Given the description of an element on the screen output the (x, y) to click on. 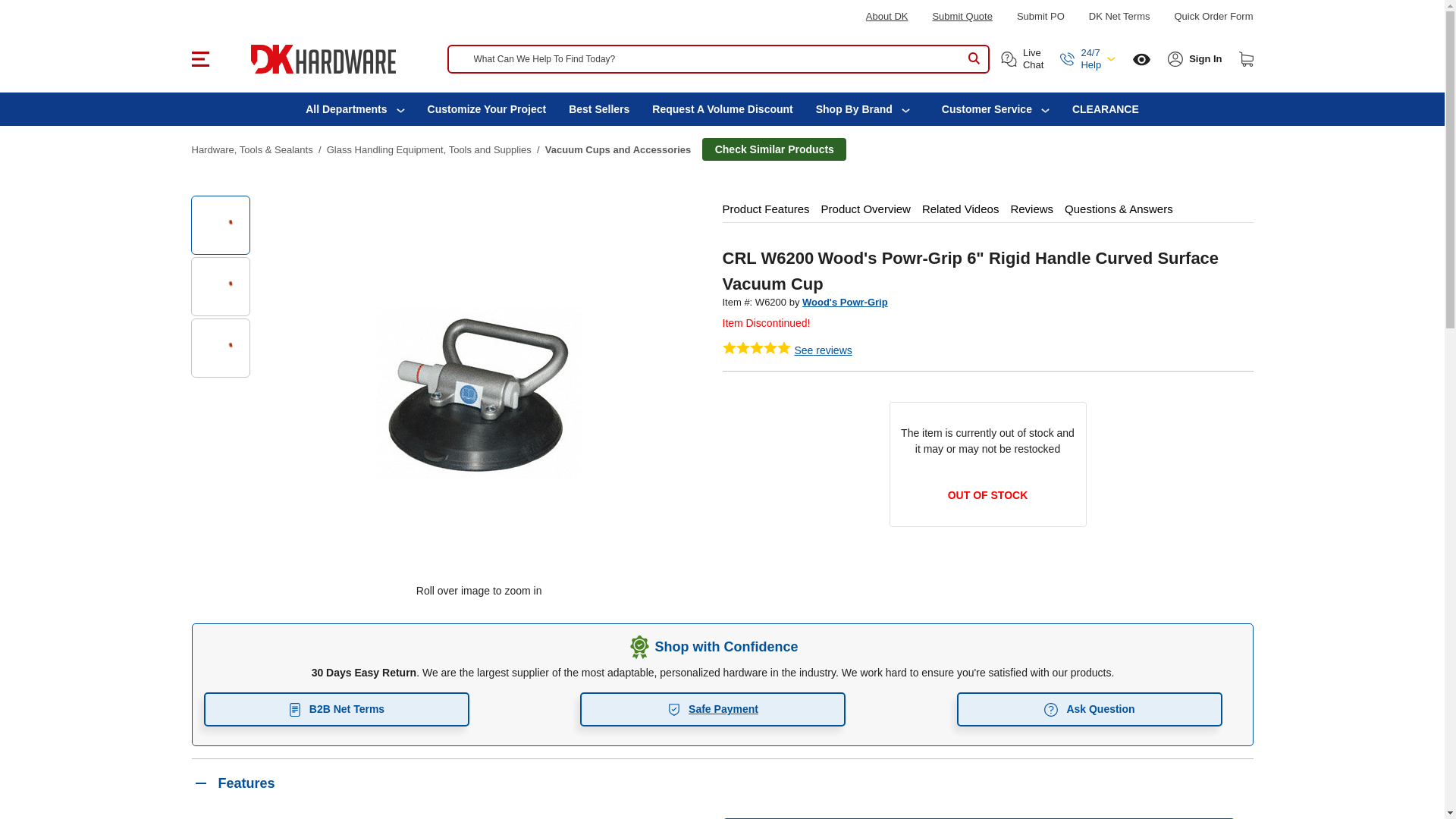
B2B Net Terms (335, 709)
opens Safe Payment in a new window (712, 709)
Glass Handling Equipment, Tools and Supplies (428, 149)
DK Hardware (322, 59)
Ask Question (1089, 709)
Vacuum Cups and Accessories (617, 149)
Safe Payment (712, 709)
See reviews (822, 350)
Request A Volume Discount (721, 109)
4.8 out of 5 star rating (756, 347)
